Given the description of an element on the screen output the (x, y) to click on. 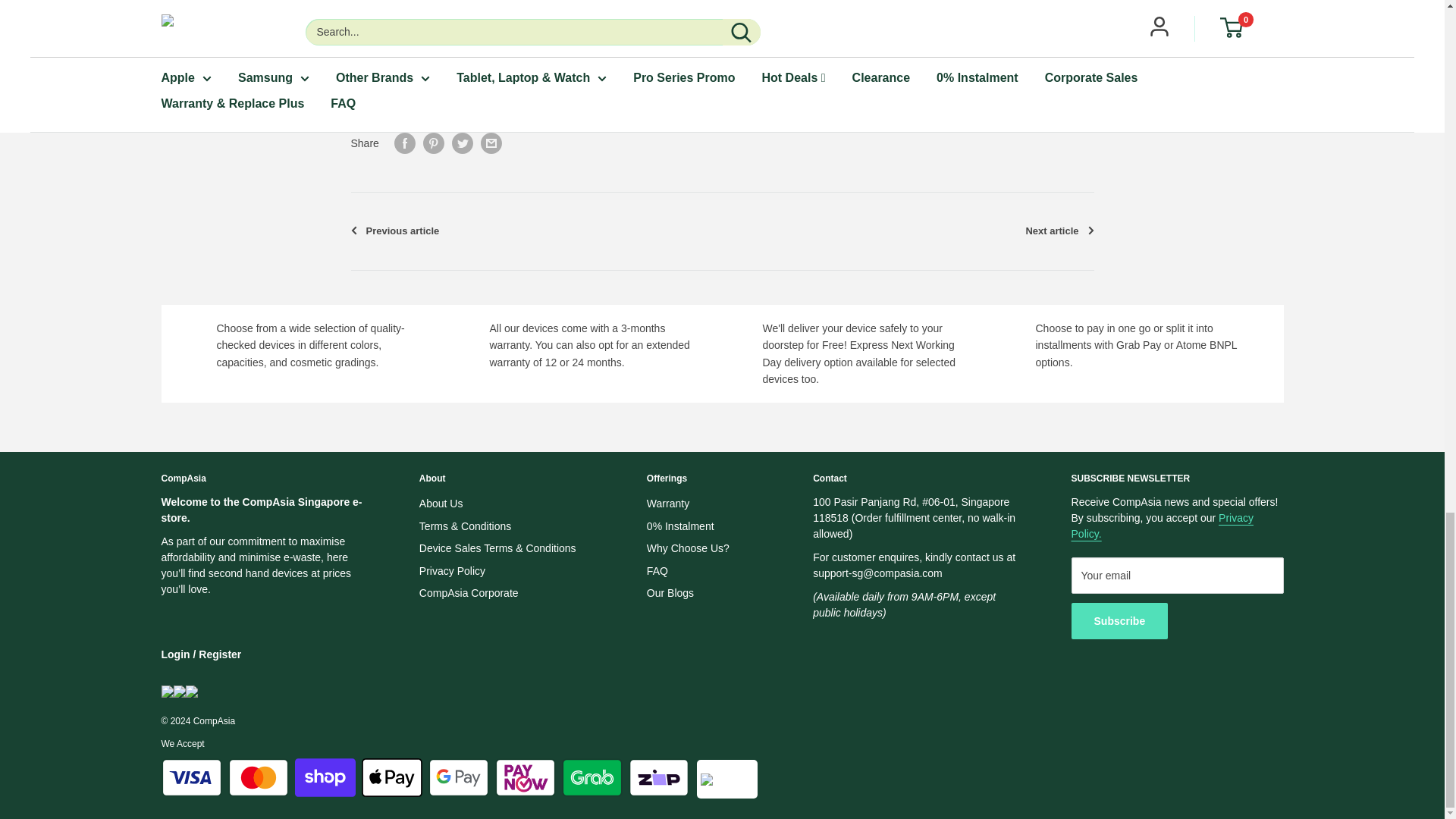
Privacy Policy (1162, 525)
